Given the description of an element on the screen output the (x, y) to click on. 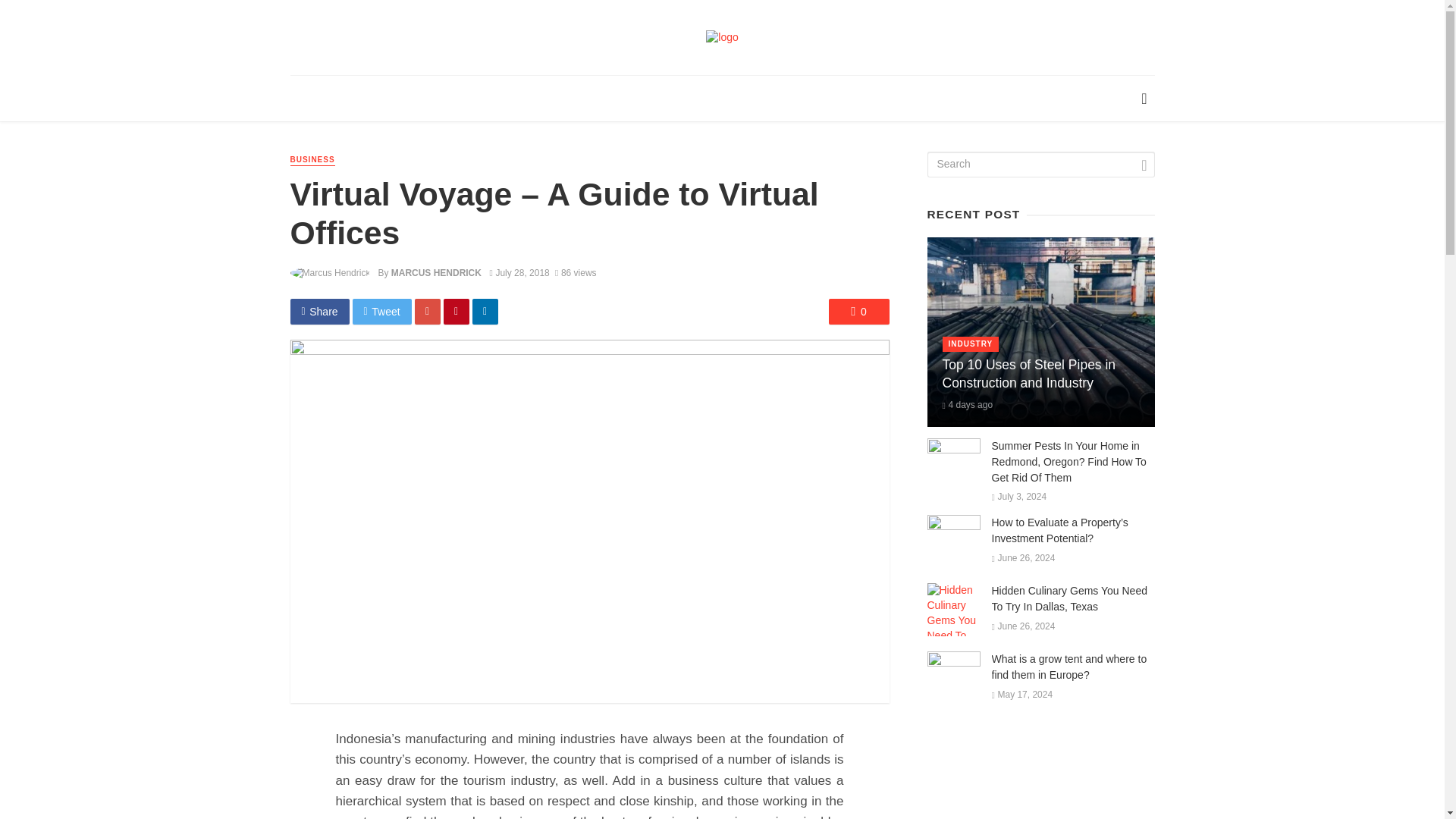
July 25, 2024 at 3:13 pm (967, 404)
June 26, 2024 at 4:33 pm (1023, 557)
INDUSTRY (970, 344)
Tweet (382, 311)
Share (319, 311)
July 28, 2018 at 7:33 am (518, 272)
MARCUS HENDRICK (436, 272)
Share on Linkedin (484, 311)
Posts by Marcus Hendrick (436, 272)
Share on Facebook (319, 311)
BUSINESS (311, 160)
0 (858, 311)
Share on Twitter (382, 311)
What is a grow tent and where to find them in Europe? (1072, 667)
0 Comments (858, 311)
